Given the description of an element on the screen output the (x, y) to click on. 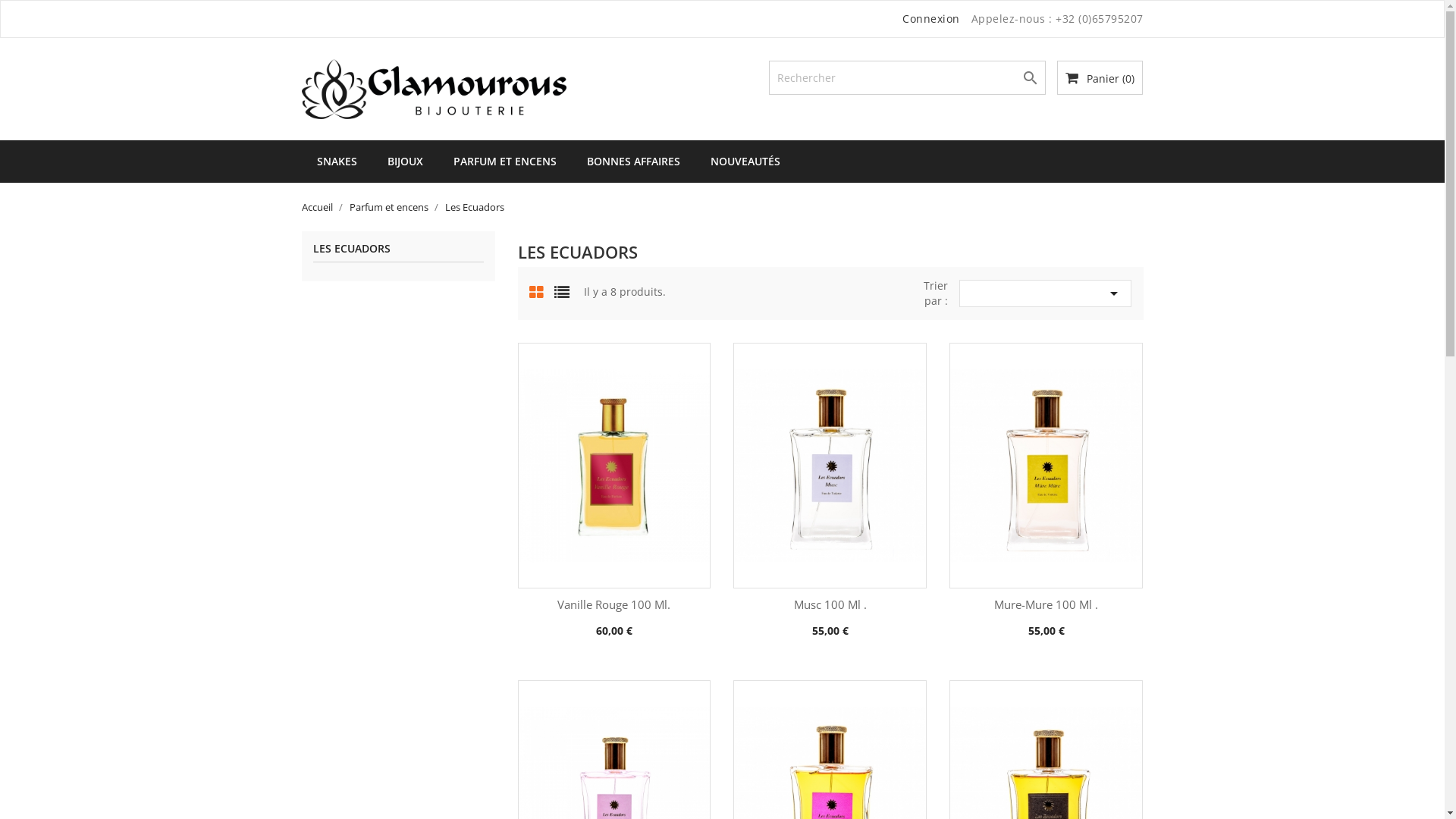
BONNES AFFAIRES Element type: text (633, 161)
Vanille Rouge 100 Ml. Element type: text (613, 603)
Connexion Element type: text (931, 18)
BIJOUX Element type: text (404, 161)
Parfum et encens Element type: text (388, 206)
Musc 100 Ml . Element type: text (829, 603)
Les Ecuadors Element type: text (473, 206)
Mure-Mure 100 Ml . Element type: text (1046, 603)
PARFUM ET ENCENS Element type: text (504, 161)
LES ECUADORS Element type: text (397, 252)
SNAKES Element type: text (336, 161)
Accueil Element type: text (318, 206)
